Given the description of an element on the screen output the (x, y) to click on. 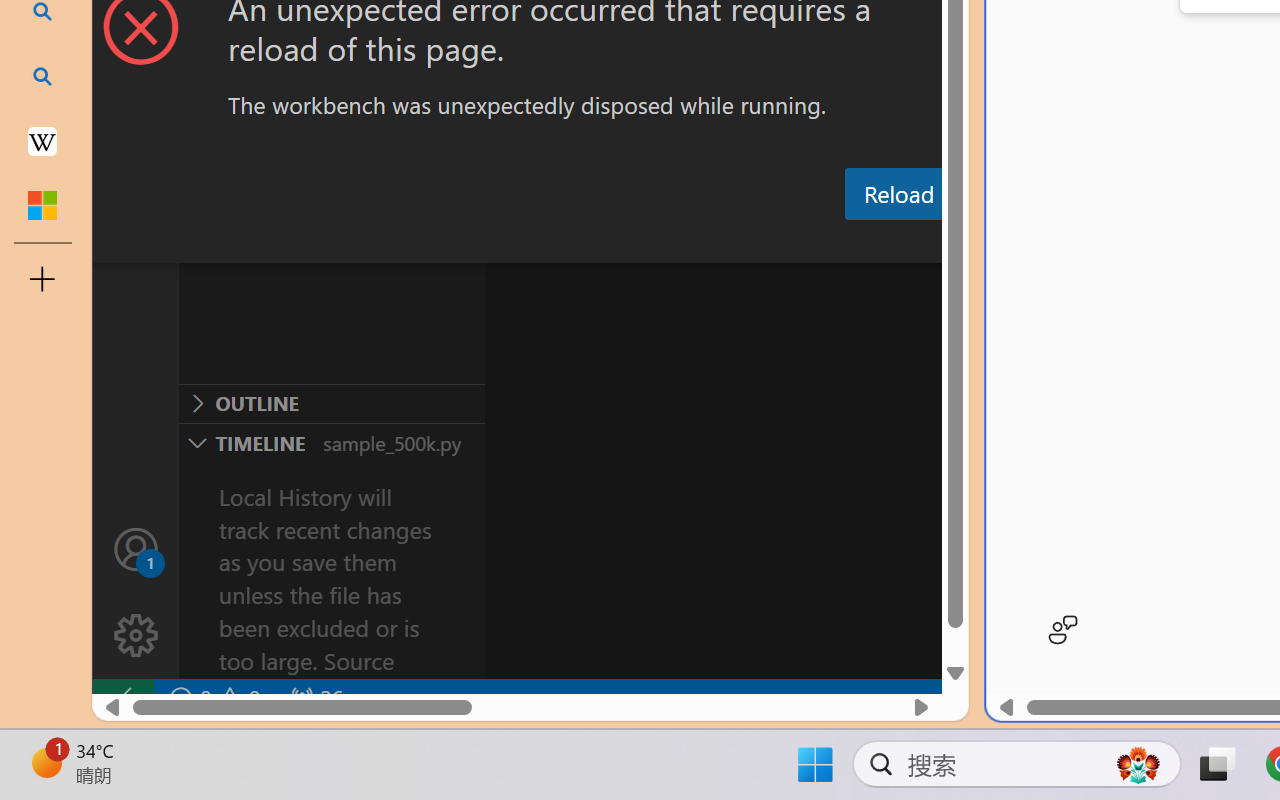
Timeline Section (331, 442)
Problems (Ctrl+Shift+M) (567, 243)
remote (122, 698)
No Problems (212, 698)
Terminal (Ctrl+`) (1021, 243)
Accounts - Sign in requested (135, 548)
Debug Console (Ctrl+Shift+Y) (854, 243)
Output (Ctrl+Shift+U) (696, 243)
